Given the description of an element on the screen output the (x, y) to click on. 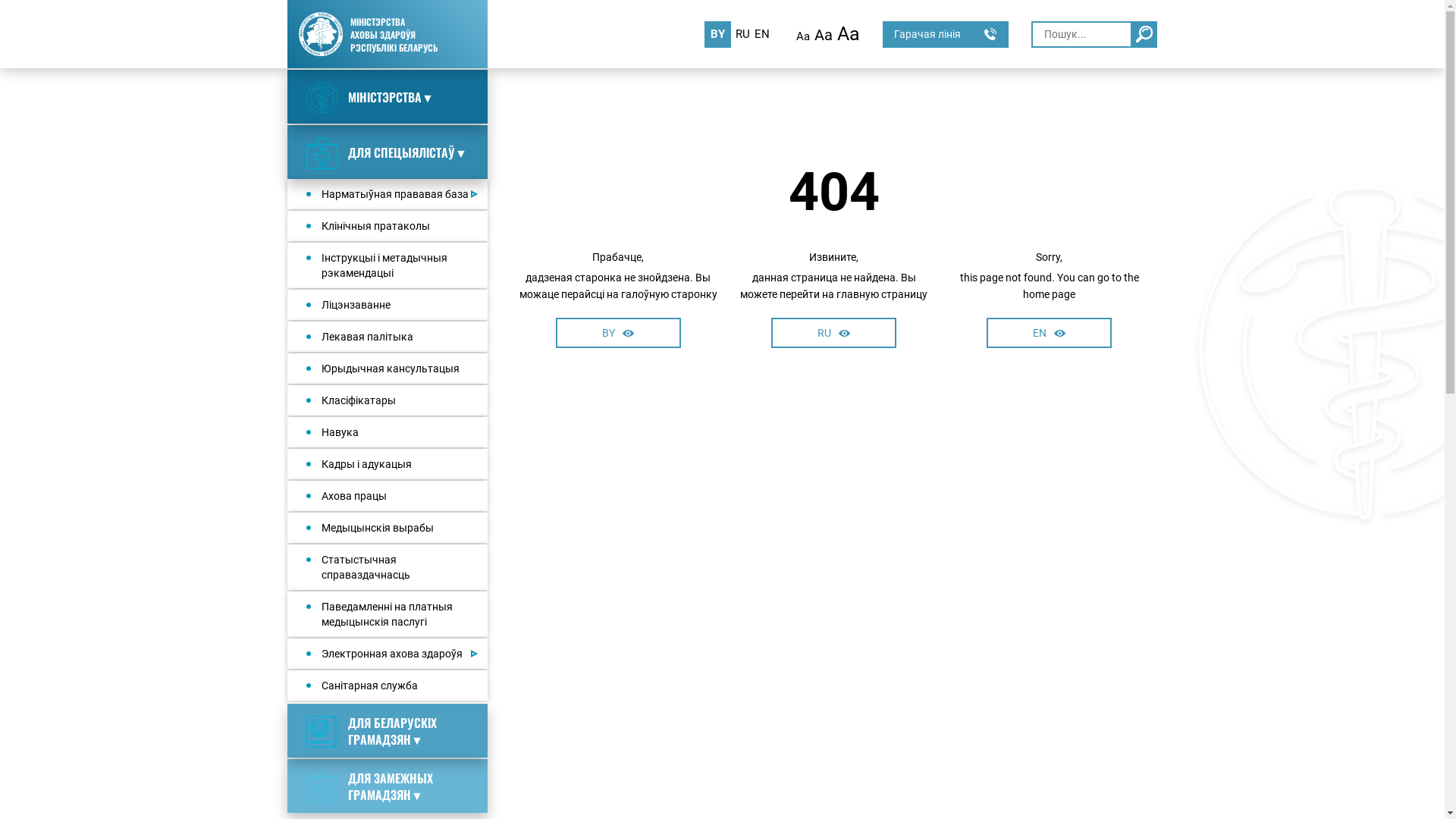
Aa Element type: text (802, 36)
EN Element type: text (761, 34)
Aa Element type: text (848, 34)
RU Element type: text (833, 332)
RU Element type: text (742, 34)
BY Element type: text (617, 332)
Aa Element type: text (823, 35)
EN Element type: text (1048, 332)
BY Element type: text (717, 34)
